Given the description of an element on the screen output the (x, y) to click on. 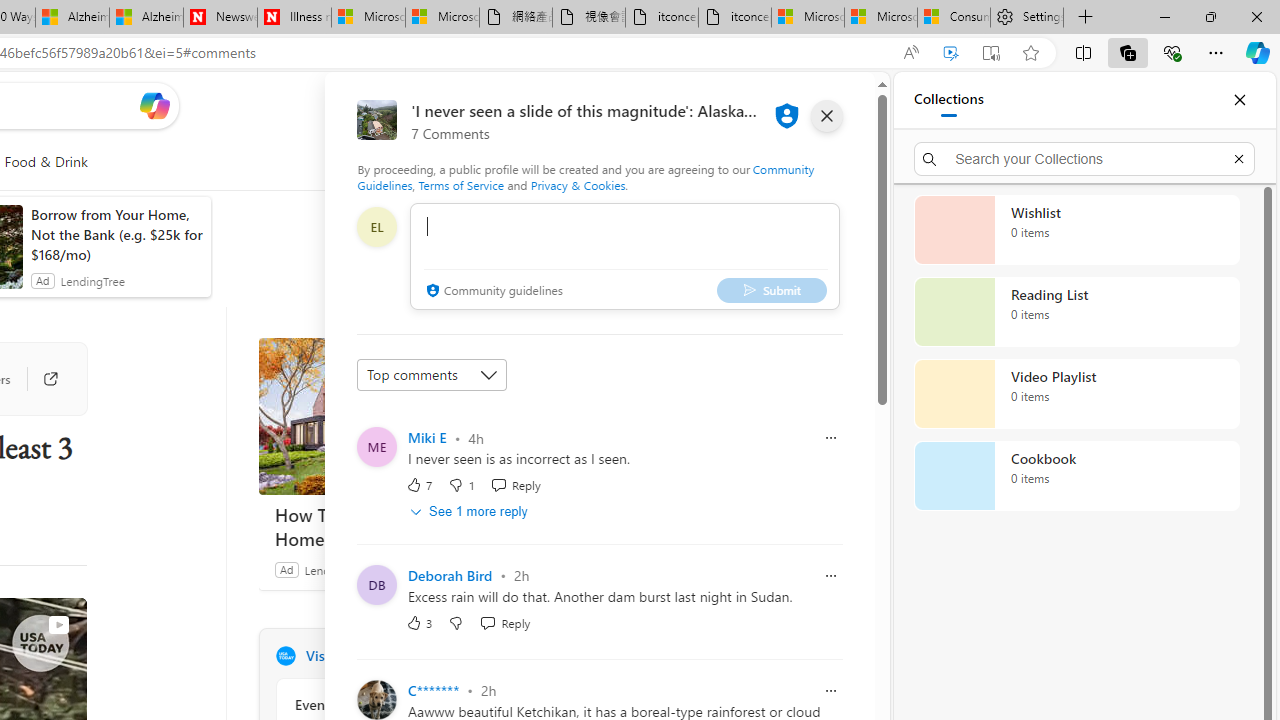
Community Guidelines (586, 176)
Deborah Bird (450, 575)
C******* (433, 690)
Submit (771, 290)
Search your Collections (1084, 158)
comment-box (624, 256)
7 Like (419, 484)
itconcepthk.com/projector_solutions.mp4 (734, 17)
